Given the description of an element on the screen output the (x, y) to click on. 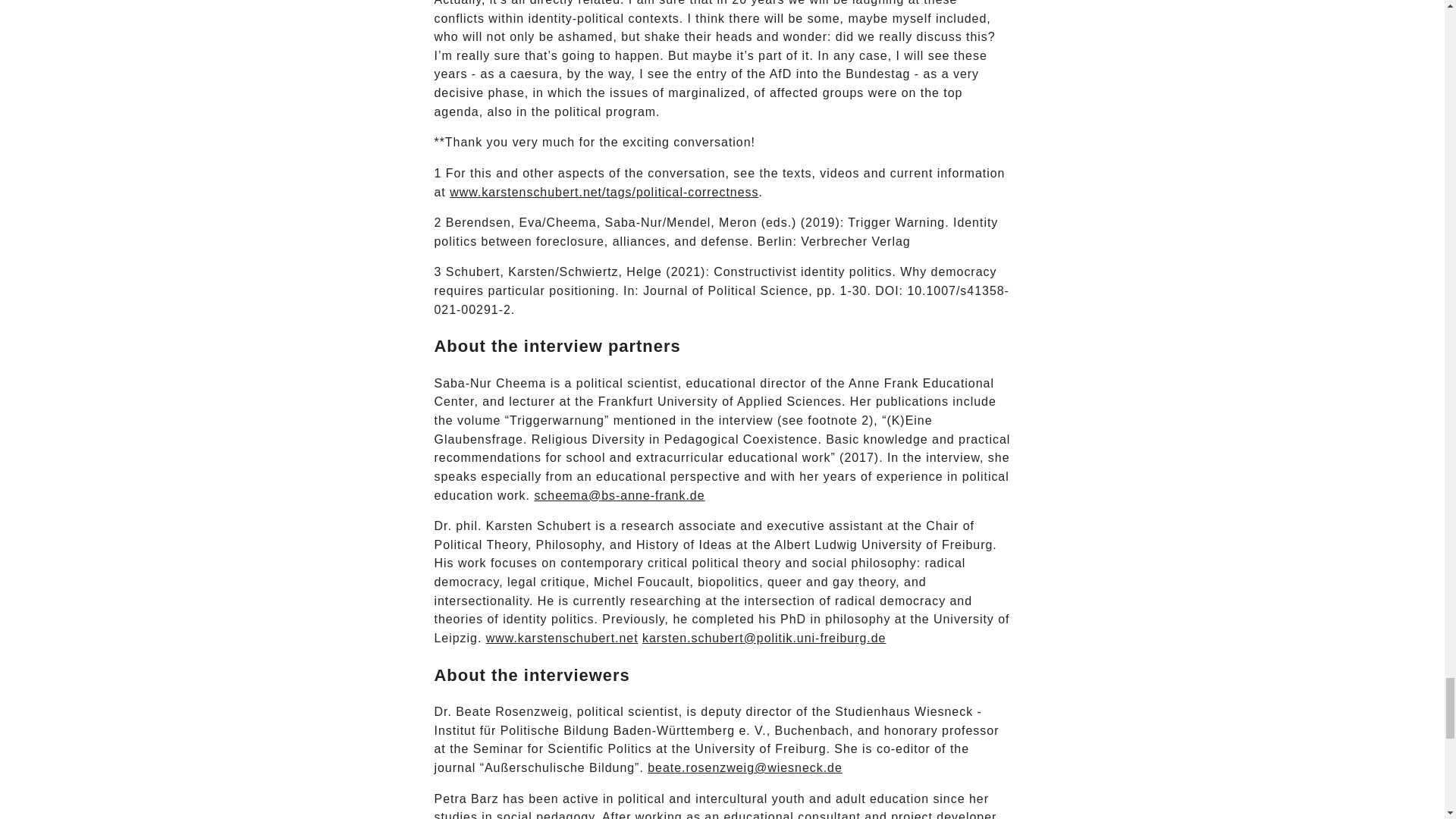
www.karstenschubert.net (562, 637)
